Given the description of an element on the screen output the (x, y) to click on. 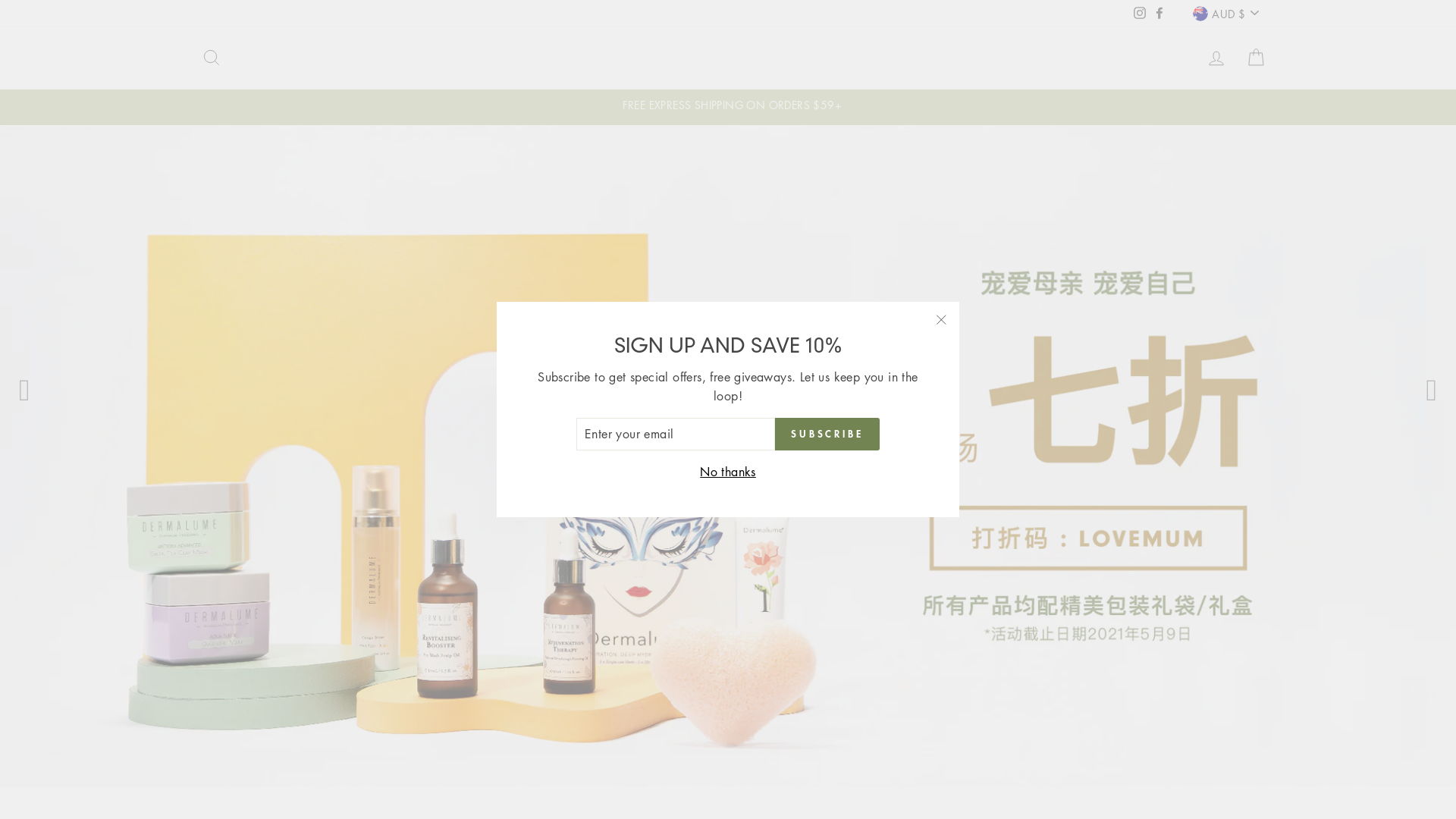
Skip to content Element type: text (0, 0)
AUD $ Element type: text (1225, 13)
SEARCH Element type: text (211, 57)
BUY NOW, PAY LATER WITH AFTERPAY Element type: text (727, 105)
No thanks Element type: text (727, 472)
Instagram Element type: text (1139, 12)
LOG IN Element type: text (1216, 57)
"Close (esc)" Element type: text (940, 319)
Previous Element type: text (24, 390)
Next Element type: text (1431, 390)
Facebook Element type: text (1159, 12)
CART Element type: text (1255, 57)
SUBSCRIBE Element type: text (827, 434)
